Given the description of an element on the screen output the (x, y) to click on. 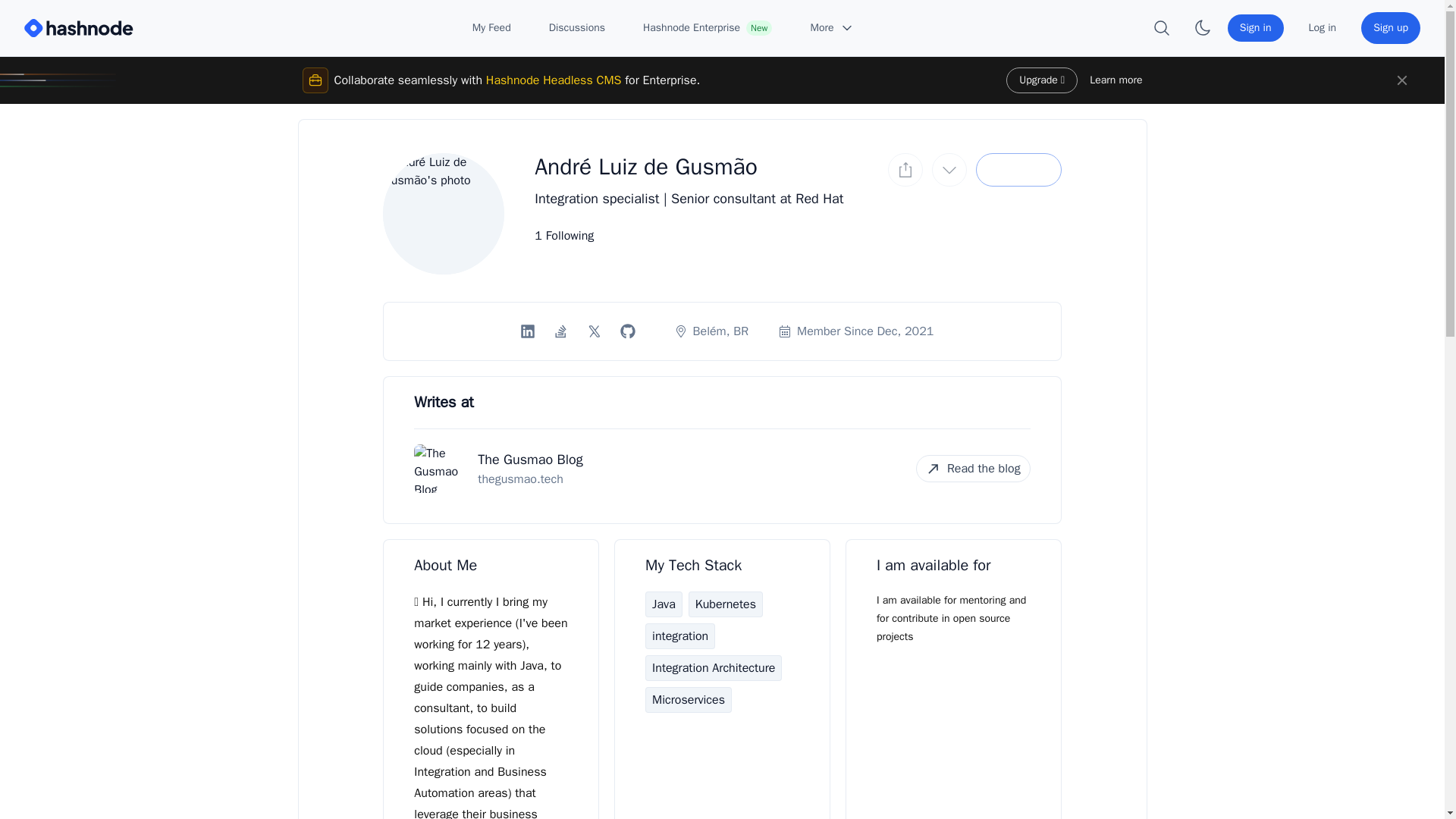
Discussions (576, 28)
Dismiss (1401, 79)
Sign in (1255, 27)
More (831, 28)
Share Profile (905, 169)
Kubernetes (725, 604)
Toggle dark mode (1202, 28)
More actions (948, 169)
Microservices (688, 699)
Sign up (1391, 28)
